Given the description of an element on the screen output the (x, y) to click on. 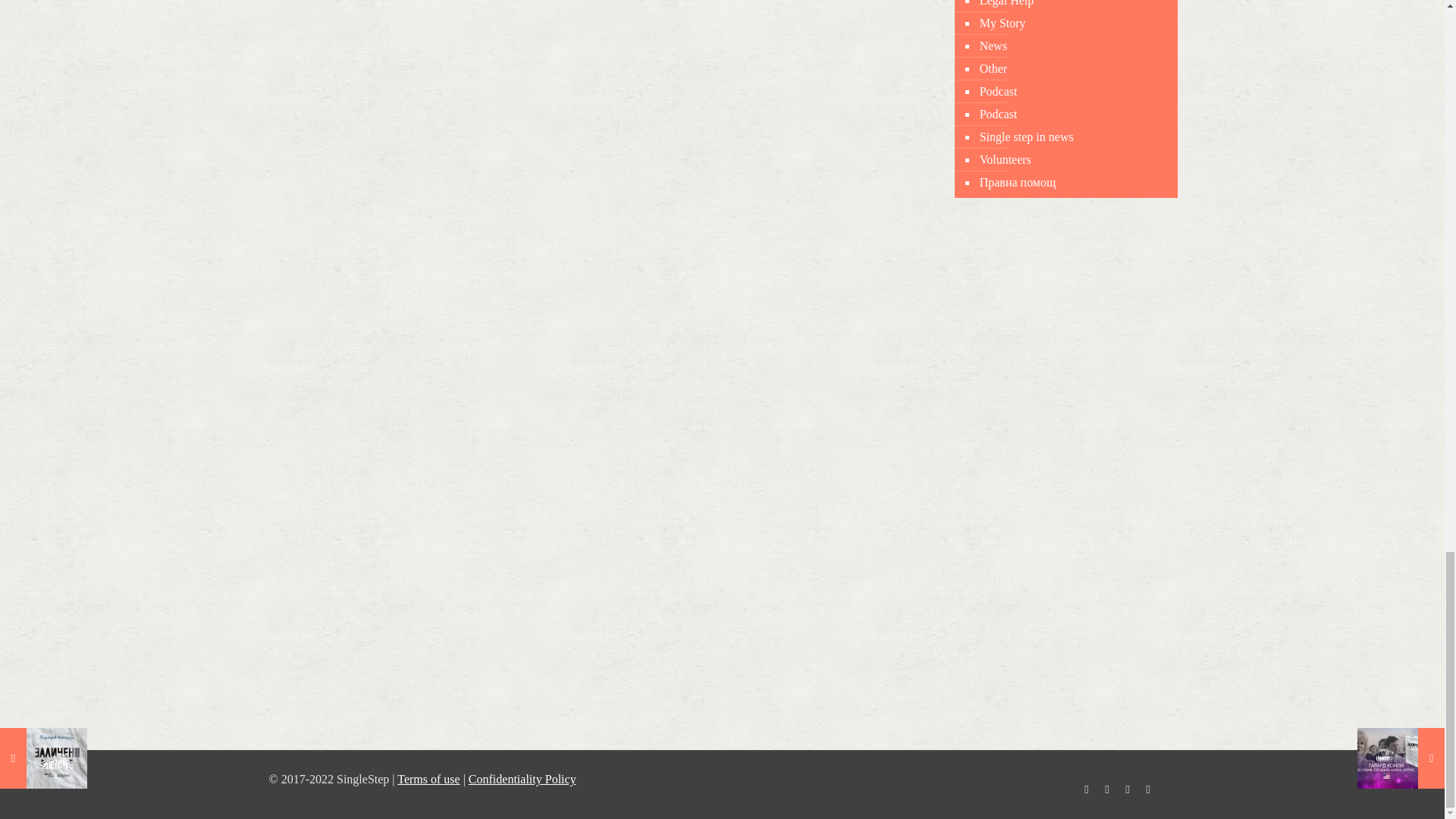
Facebook (1086, 788)
Instagram (1127, 788)
Twitter (1107, 788)
LinkedIn (1148, 788)
